Given the description of an element on the screen output the (x, y) to click on. 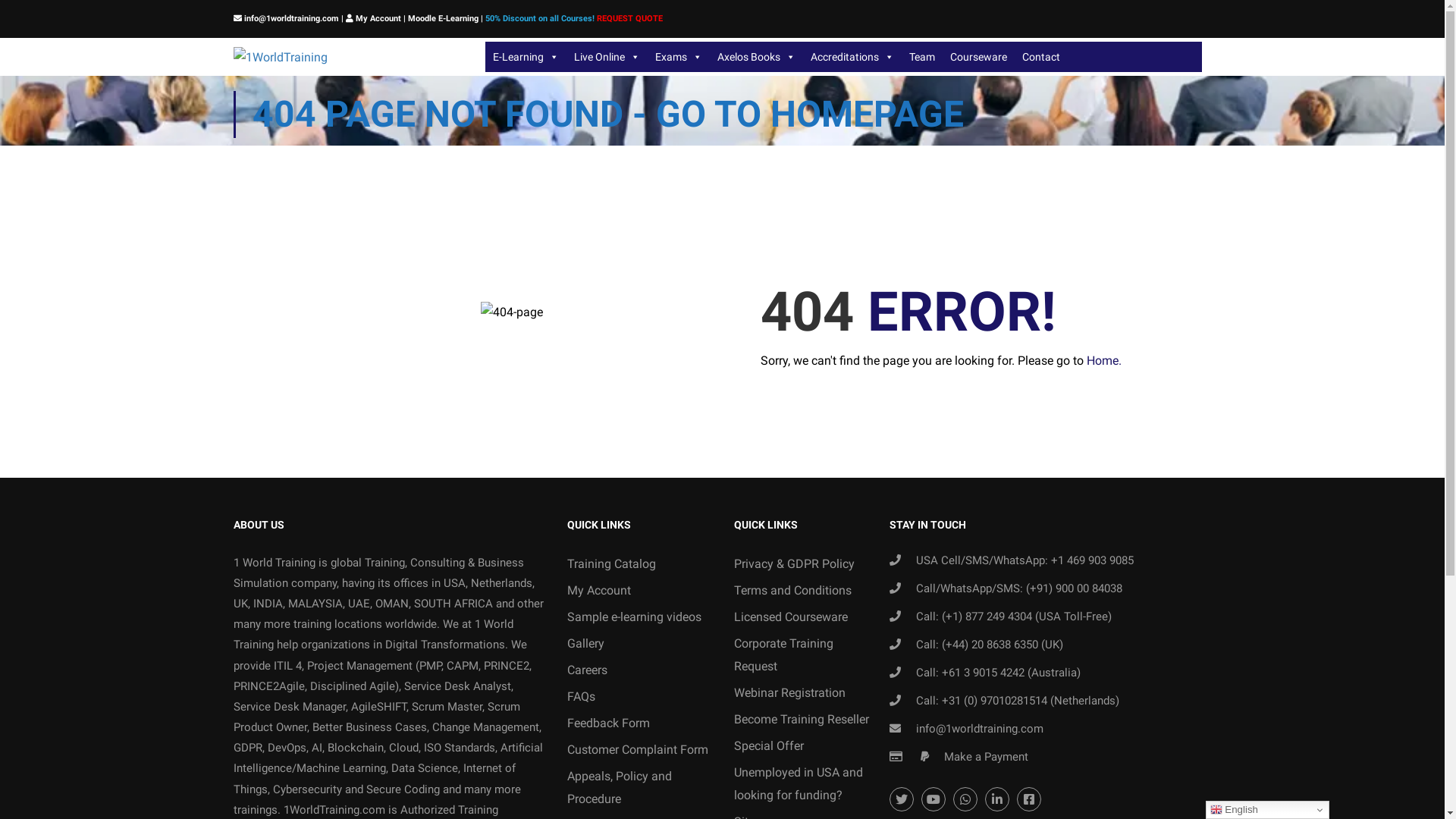
Training Catalog Element type: text (639, 563)
Live Online Element type: text (606, 56)
+61 3 9015 4242 Element type: text (982, 672)
Become Training Reseller Element type: text (806, 719)
Appeals, Policy and Procedure Element type: text (639, 787)
Unemployed in USA and looking for funding? Element type: text (806, 783)
+31 (0) 97010281514 Element type: text (994, 700)
(+1) 877 249 4304 Element type: text (986, 616)
Moodle E-Learning Element type: text (442, 18)
Webinar Registration Element type: text (806, 692)
Customer Complaint Form Element type: text (639, 749)
Contact Element type: text (1040, 56)
info@1worldtraining.com Element type: text (979, 728)
info@1worldtraining.com Element type: text (289, 18)
Gallery Element type: text (639, 643)
Sample e-learning videos Element type: text (639, 616)
REQUEST QUOTE Element type: text (629, 18)
Team Element type: text (921, 56)
1 World Training Element type: text (274, 562)
Courseware Element type: text (978, 56)
My Account Element type: text (639, 590)
Careers Element type: text (639, 669)
Feedback Form Element type: text (639, 723)
E-Learning Element type: text (525, 56)
Accreditations Element type: text (852, 56)
(+91) 900 00 84038 Element type: text (1073, 588)
Corporate Training Request Element type: text (806, 654)
+1 469 903 9085 Element type: text (1092, 560)
(+44) 20 8638 6350 Element type: text (989, 644)
Special Offer Element type: text (806, 745)
Terms and Conditions Element type: text (806, 590)
Exams Element type: text (678, 56)
Make a Payment Element type: text (985, 756)
Licensed Courseware Element type: text (806, 616)
Axelos Books Element type: text (756, 56)
Home. Element type: text (1102, 360)
Privacy & GDPR Policy Element type: text (806, 563)
FAQs Element type: text (639, 696)
My Account Element type: text (377, 18)
